Given the description of an element on the screen output the (x, y) to click on. 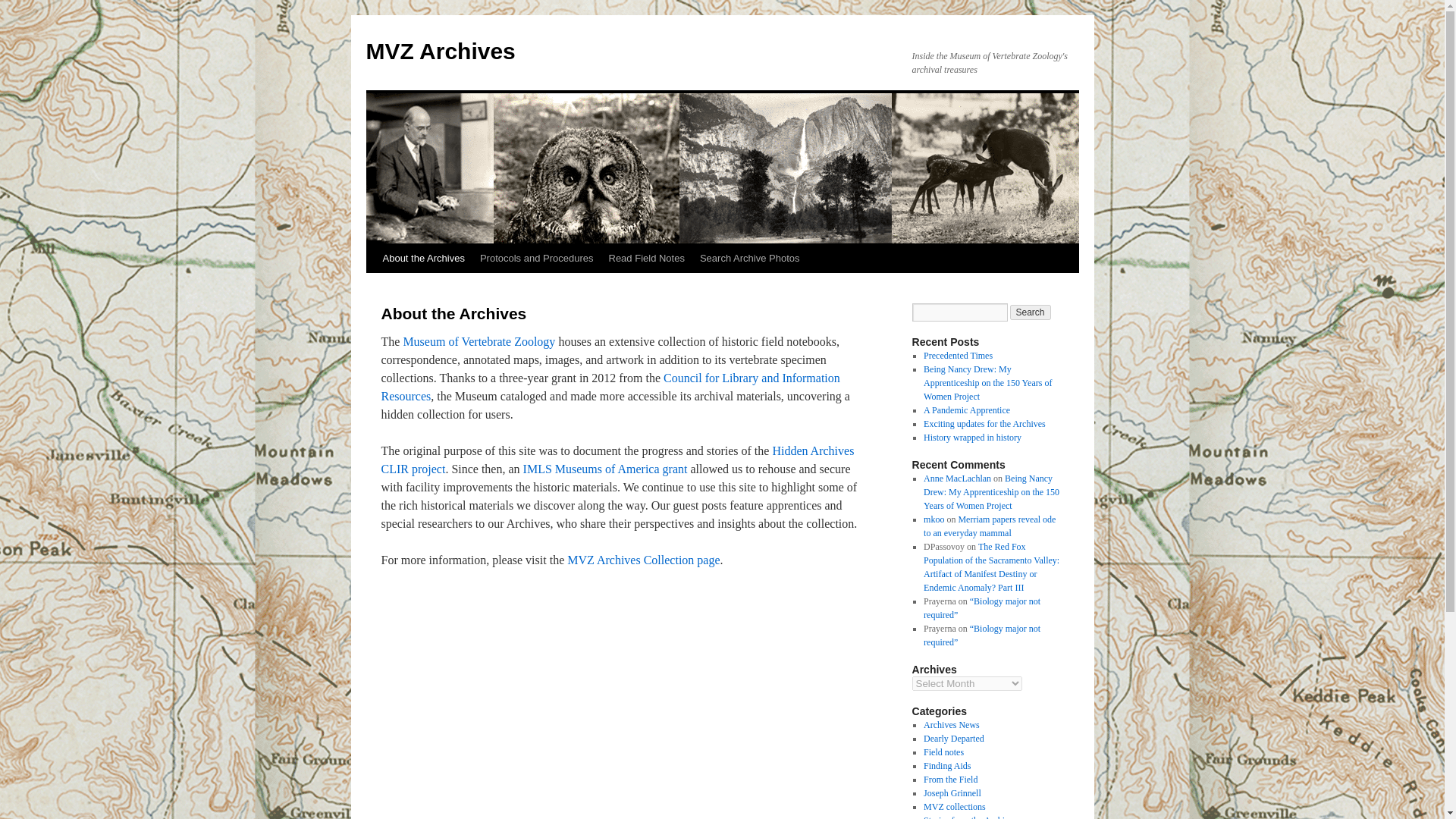
History wrapped in history (972, 437)
IMLS Museums of America grant (604, 468)
Search (1030, 312)
Dearly Departed (953, 738)
Council for Library and Information Resources (610, 386)
Search (1030, 312)
Finding Aids (947, 765)
MVZ Archive Project (643, 559)
From the Field (949, 778)
Protocols and Procedures (536, 258)
Exciting updates for the Archives (984, 423)
MVZ Archives Collection page (643, 559)
mkoo (933, 519)
